Given the description of an element on the screen output the (x, y) to click on. 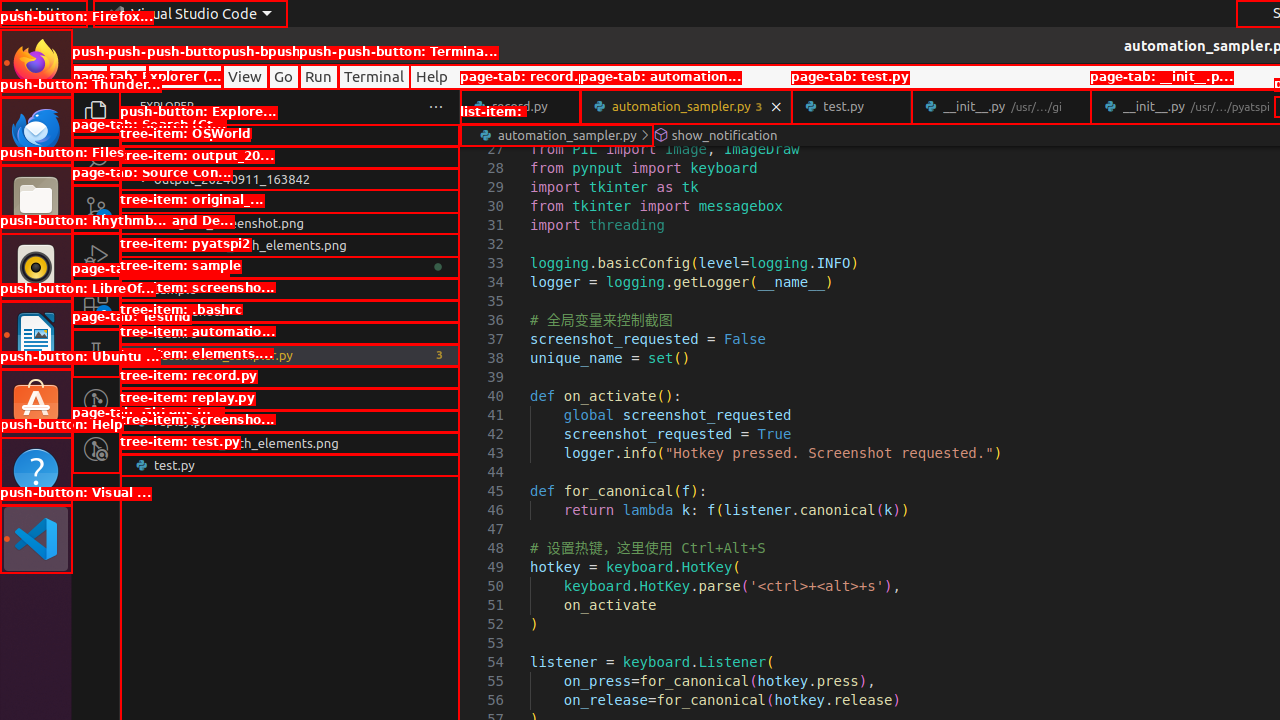
Go Element type: push-button (283, 76)
automation_sampler.py Element type: tree-item (289, 355)
Terminal Element type: push-button (374, 76)
replay.py Element type: tree-item (289, 421)
Run Element type: push-button (318, 76)
